Given the description of an element on the screen output the (x, y) to click on. 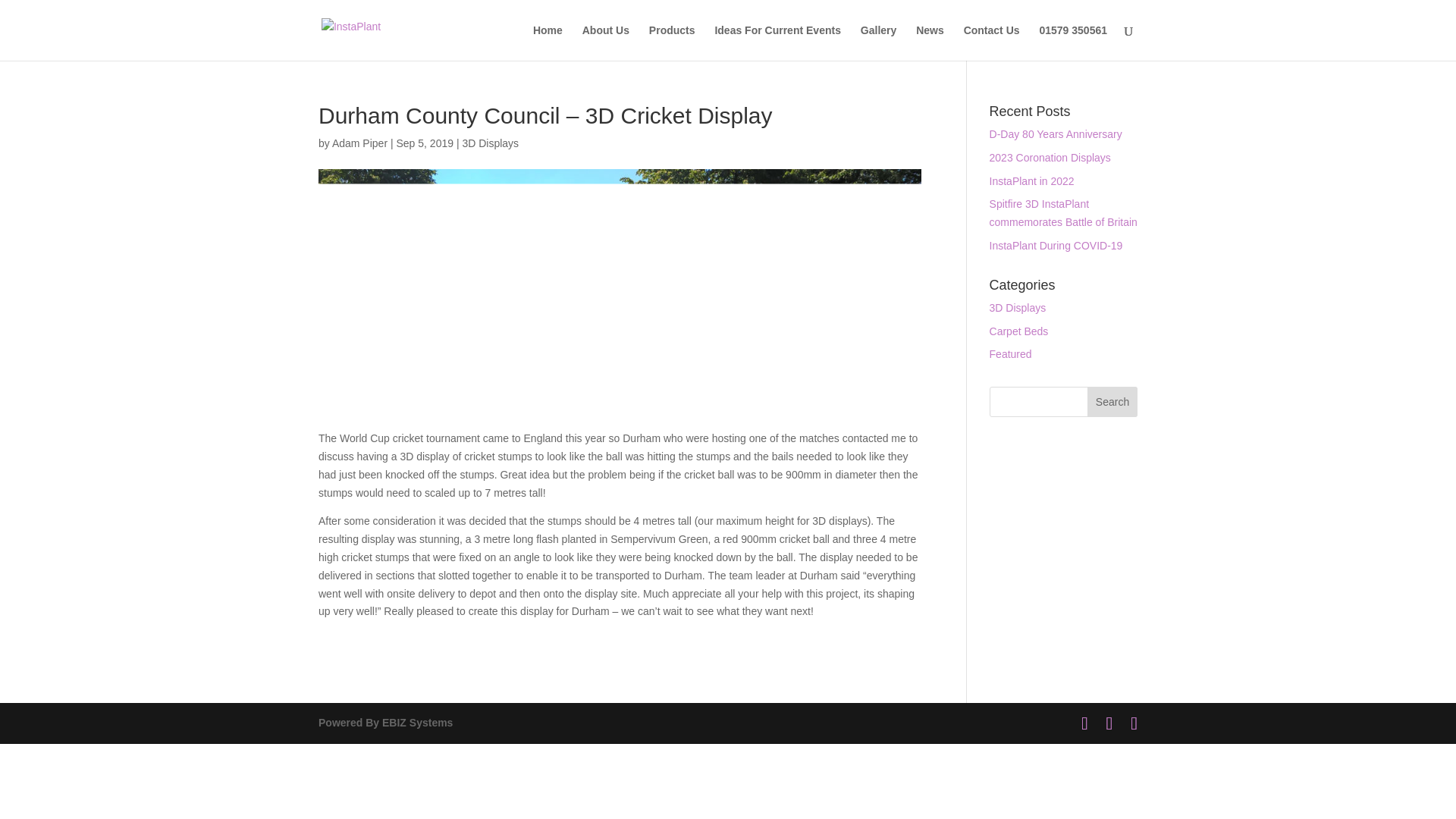
About Us (605, 42)
2023 Coronation Displays (1050, 157)
Featured (1011, 354)
Carpet Beds (1019, 331)
Search (1112, 401)
Products (672, 42)
InstaPlant in 2022 (1032, 181)
01579 350561 (1072, 42)
Ideas For Current Events (777, 42)
Contact Us (991, 42)
